Given the description of an element on the screen output the (x, y) to click on. 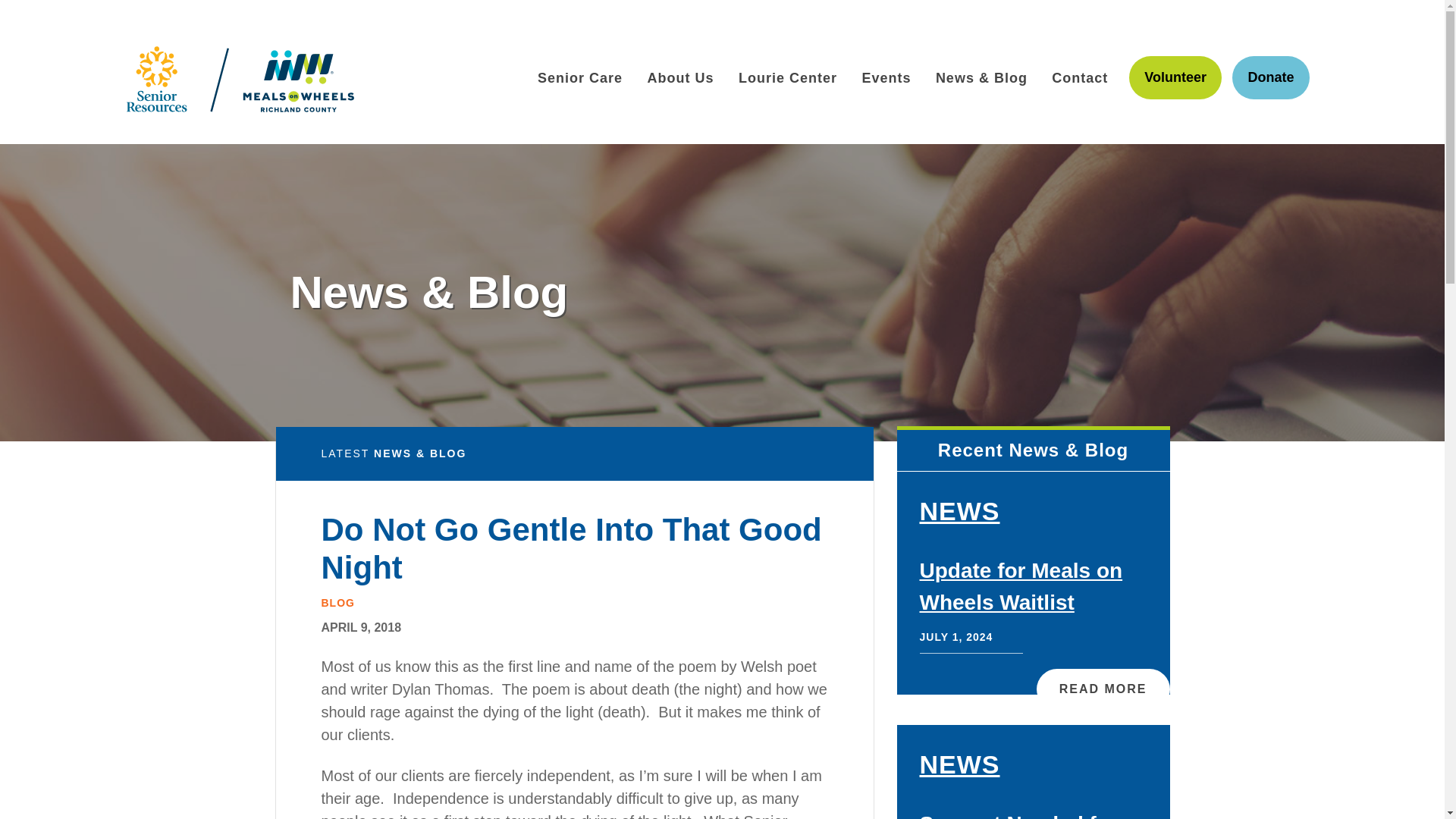
Volunteer (1175, 77)
Contact (1079, 77)
Update for Meals on Wheels Waitlist (1020, 586)
About Us (679, 77)
Lourie Center (787, 77)
Events (885, 77)
NEWS (958, 764)
BLOG (338, 603)
Senior Resources (244, 78)
